Given the description of an element on the screen output the (x, y) to click on. 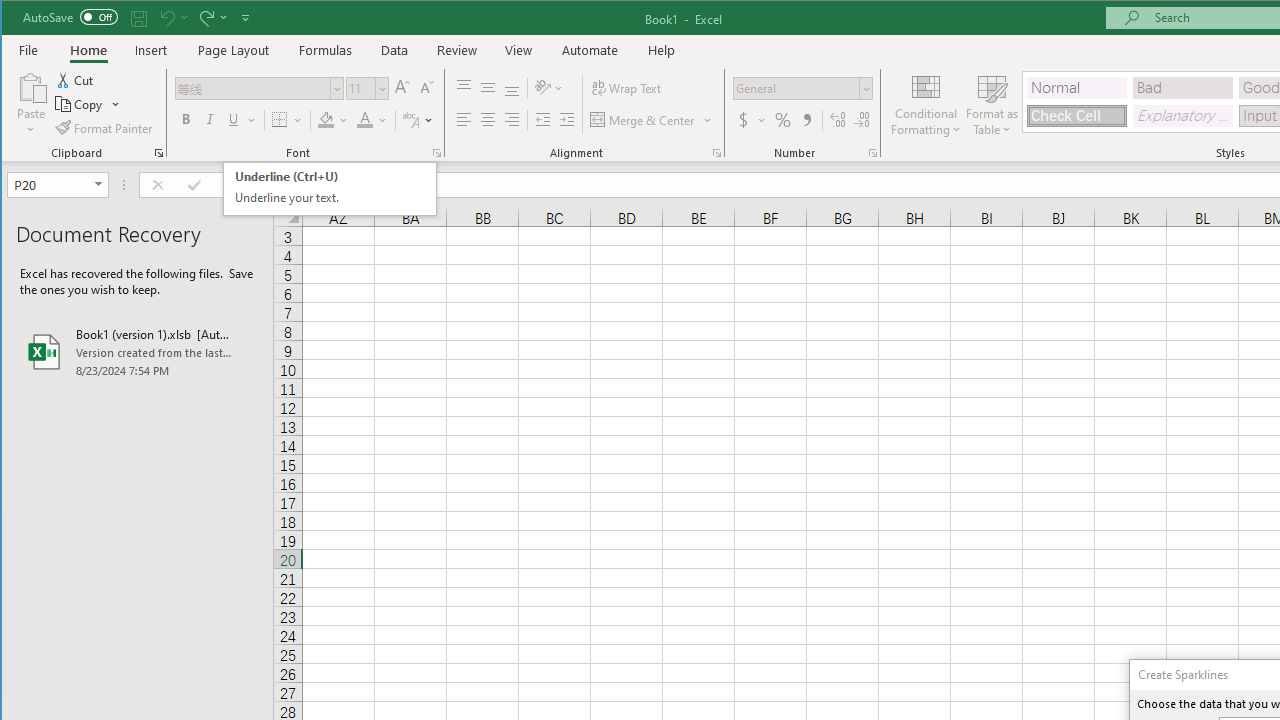
Paste (31, 104)
Explanatory Text (1183, 116)
Top Align (329, 189)
Comma Style (463, 88)
Fill Color (806, 119)
Font Size (333, 119)
